Given the description of an element on the screen output the (x, y) to click on. 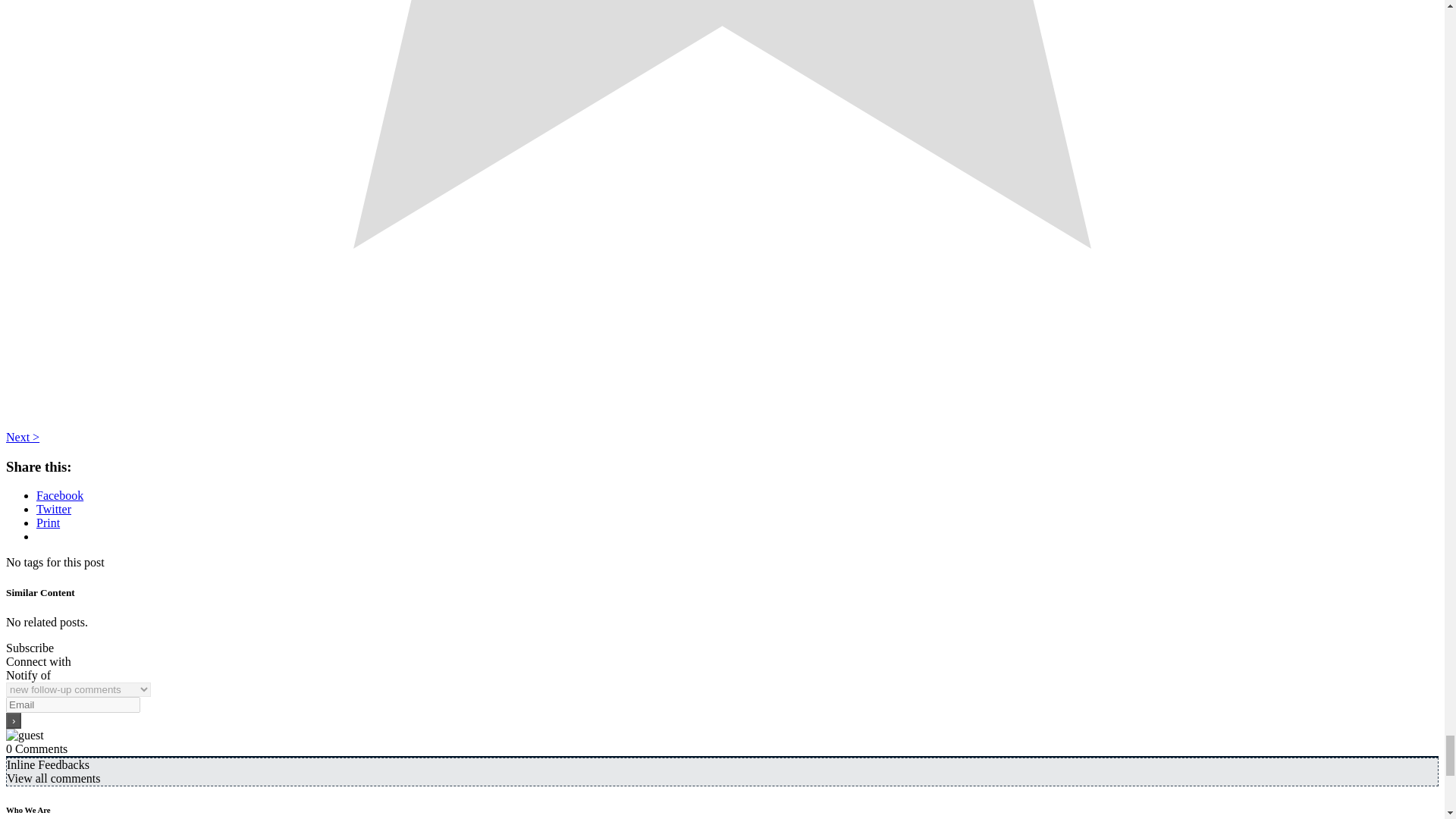
Click to share on Facebook (59, 495)
Click to share on Twitter (53, 508)
Facebook (59, 495)
Twitter (53, 508)
Print (47, 522)
Click to print (47, 522)
